Given the description of an element on the screen output the (x, y) to click on. 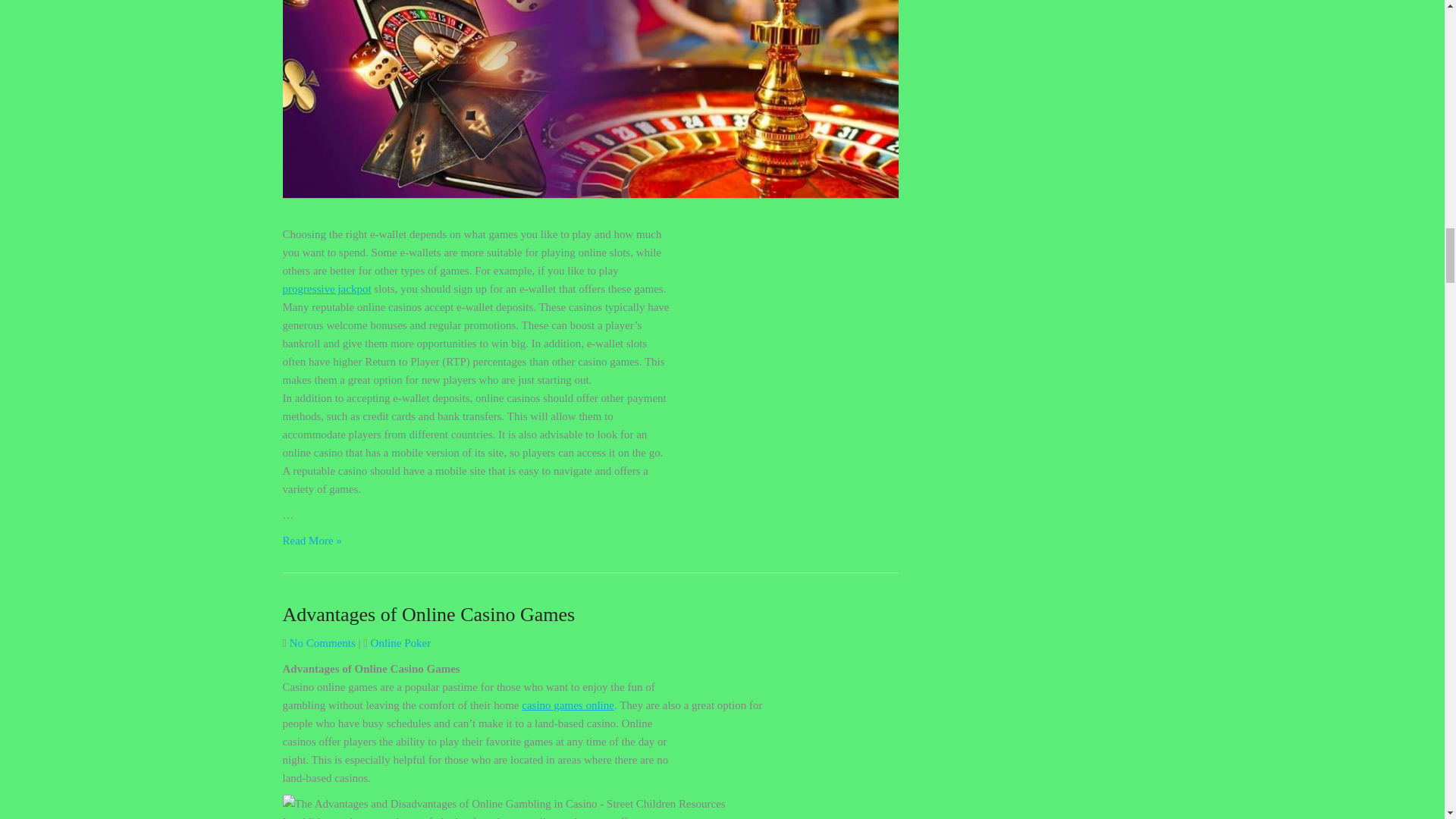
Advantages of Online Casino Games (428, 614)
Online Poker (400, 643)
casino games online (567, 705)
progressive jackpot (326, 288)
No Comments (322, 643)
